Given the description of an element on the screen output the (x, y) to click on. 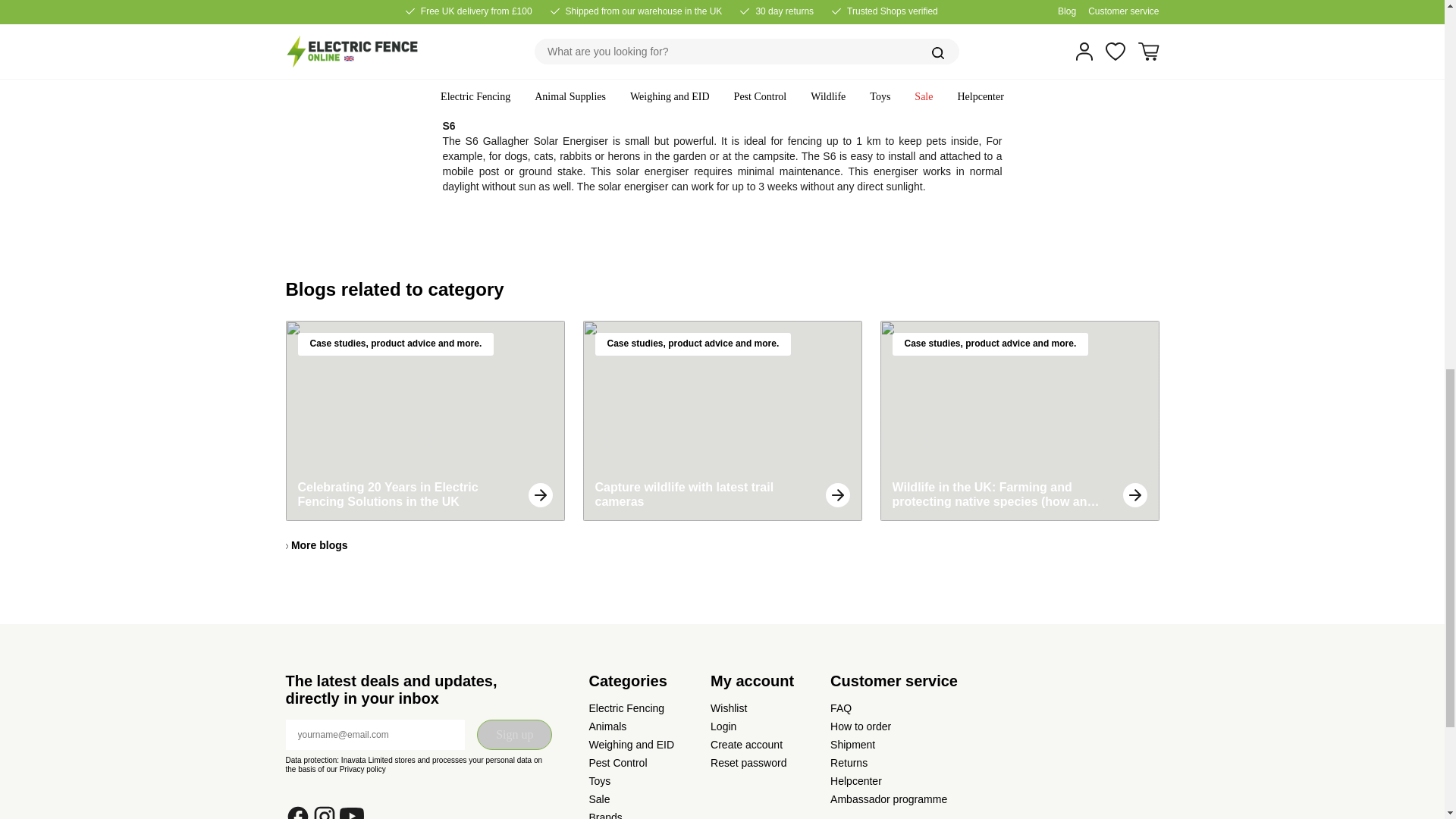
How to order (860, 726)
Brands (604, 815)
Electric Fencing (625, 707)
S6 Solar fence engergizer incl. Lithium battery (448, 125)
Sale (599, 799)
Wishlist (728, 707)
FAQ (840, 707)
Pest Control (617, 762)
Login (723, 726)
Create account (746, 744)
Toys (599, 780)
Shipment (852, 744)
Weighing and EID (631, 744)
Animals (607, 726)
Reset password (748, 762)
